Given the description of an element on the screen output the (x, y) to click on. 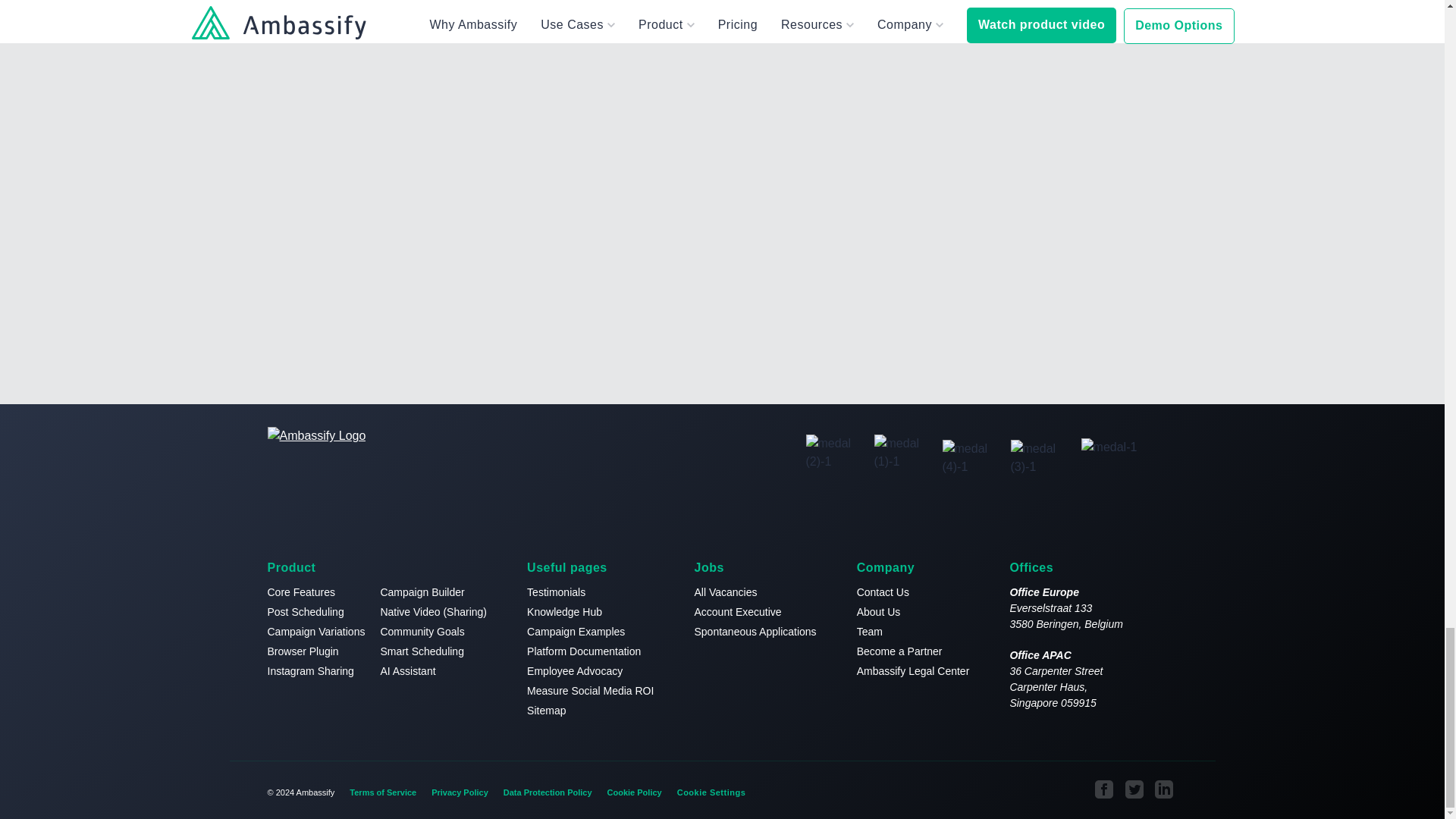
Visit our Ambassify LinkedIn page (1164, 789)
Visit our Ambassify Twitter page (1134, 789)
Visit our Ambassify Facebook page (1104, 789)
